Given the description of an element on the screen output the (x, y) to click on. 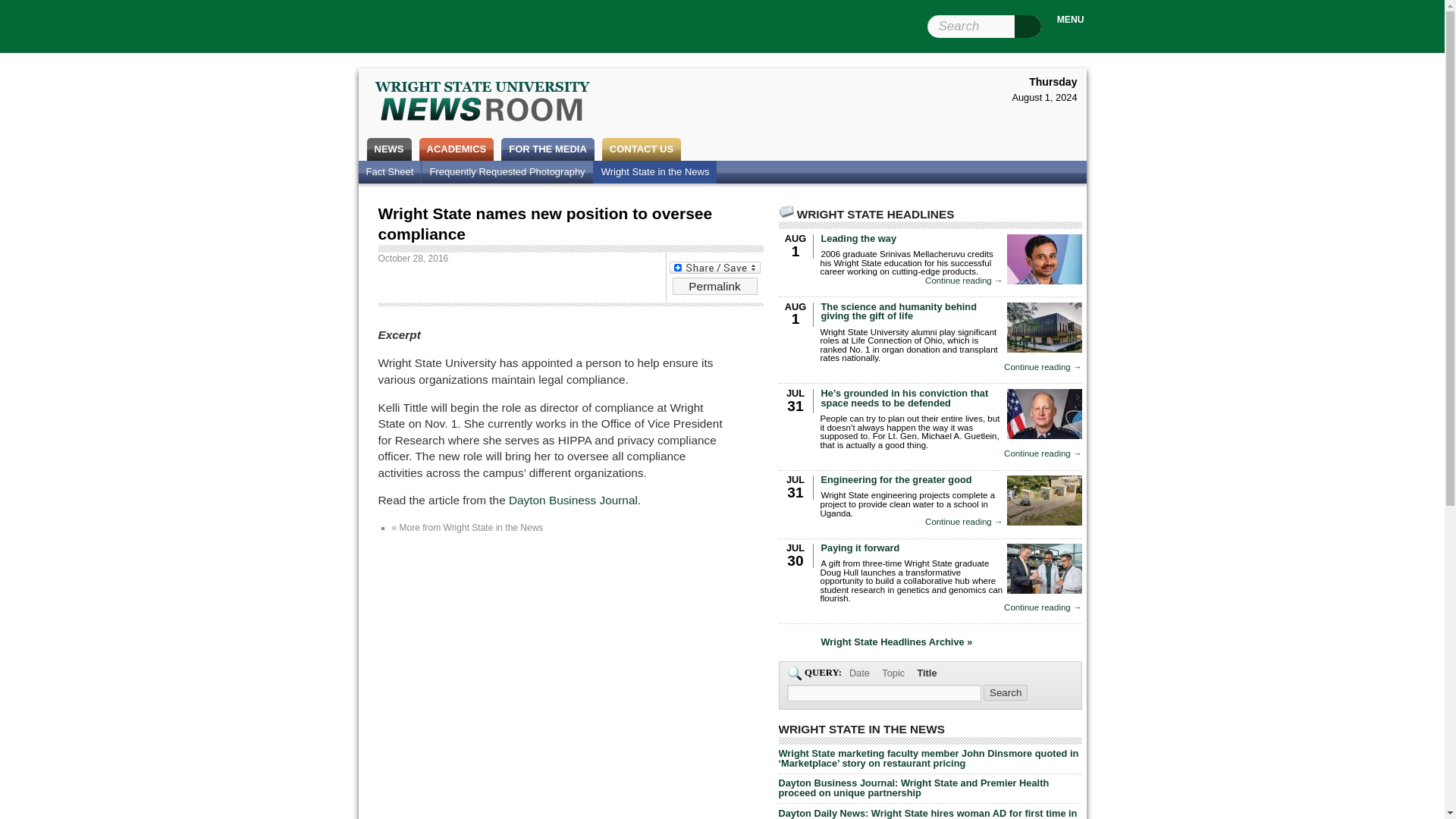
Wright State Newsroom (482, 102)
Permanent link to Paying it forward (860, 547)
FOR THE MEDIA (547, 149)
Search (1005, 692)
Permanent link to Engineering for the greater good (896, 479)
Dayton Business Journal (572, 499)
Permanent link to Leading the way (858, 238)
